Given the description of an element on the screen output the (x, y) to click on. 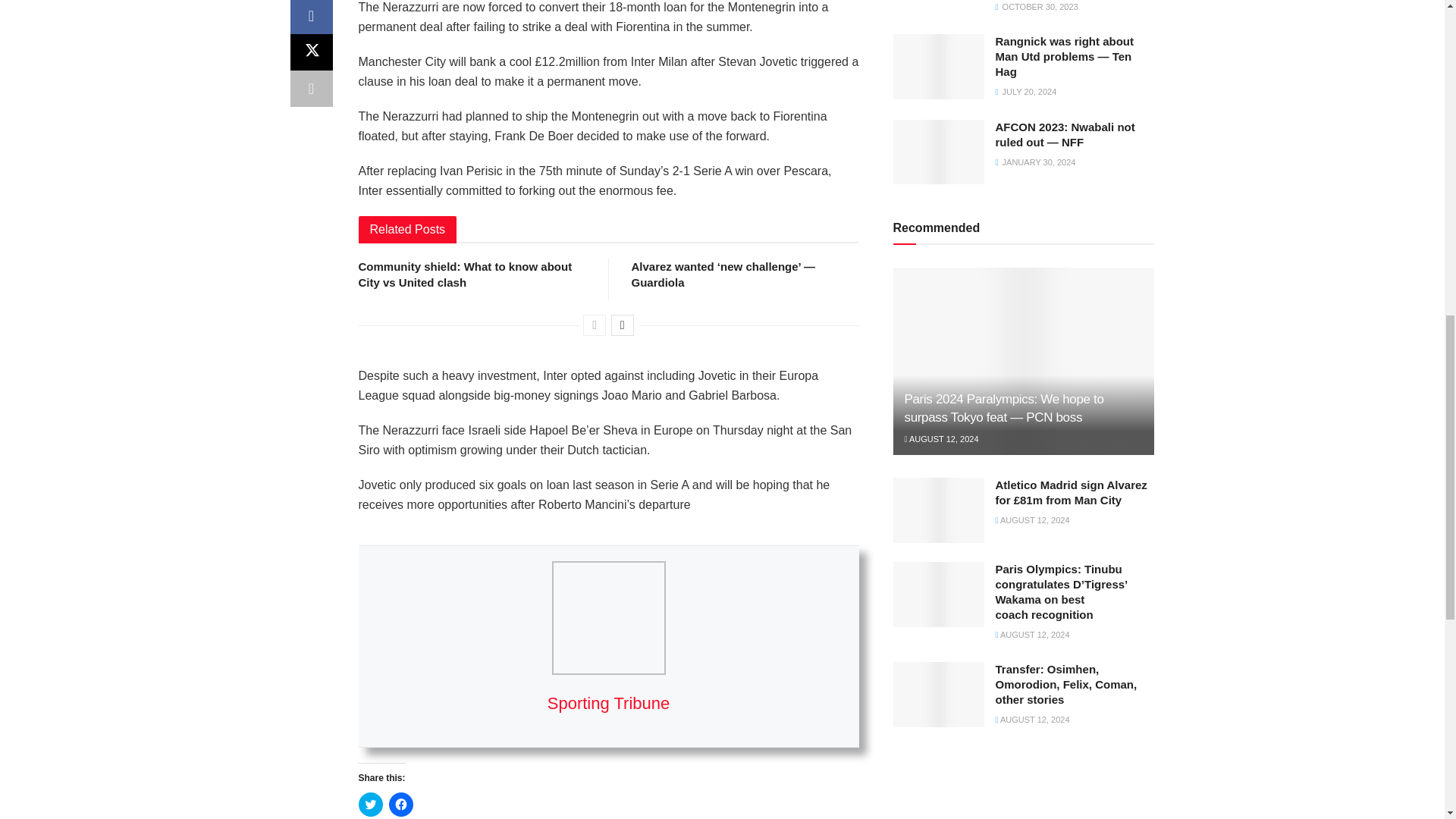
Next (622, 324)
Click to share on Twitter (369, 804)
Previous (594, 324)
Click to share on Facebook (400, 804)
